Given the description of an element on the screen output the (x, y) to click on. 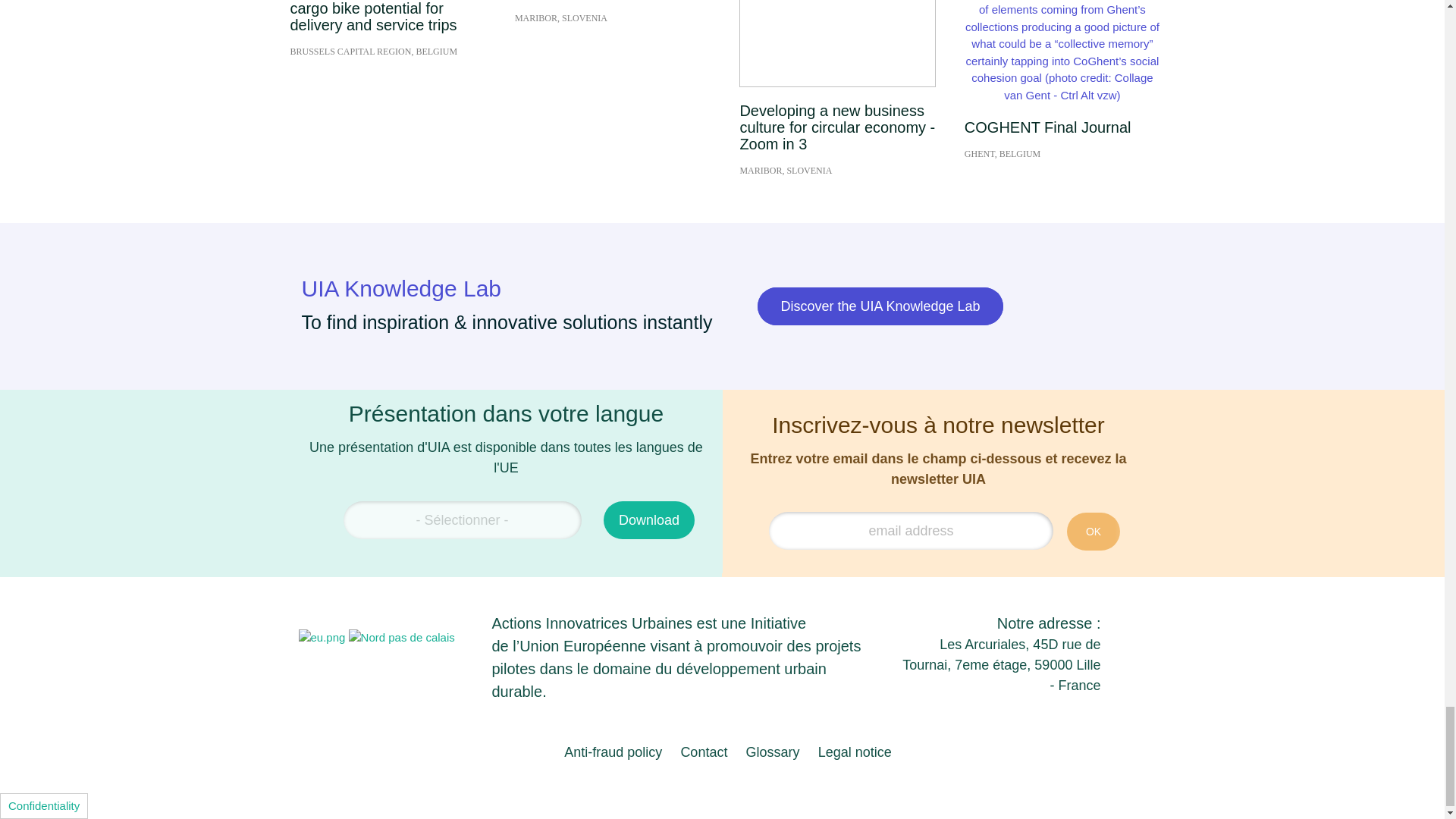
Download (649, 519)
OK (1093, 531)
Legal Notice (854, 752)
